Given the description of an element on the screen output the (x, y) to click on. 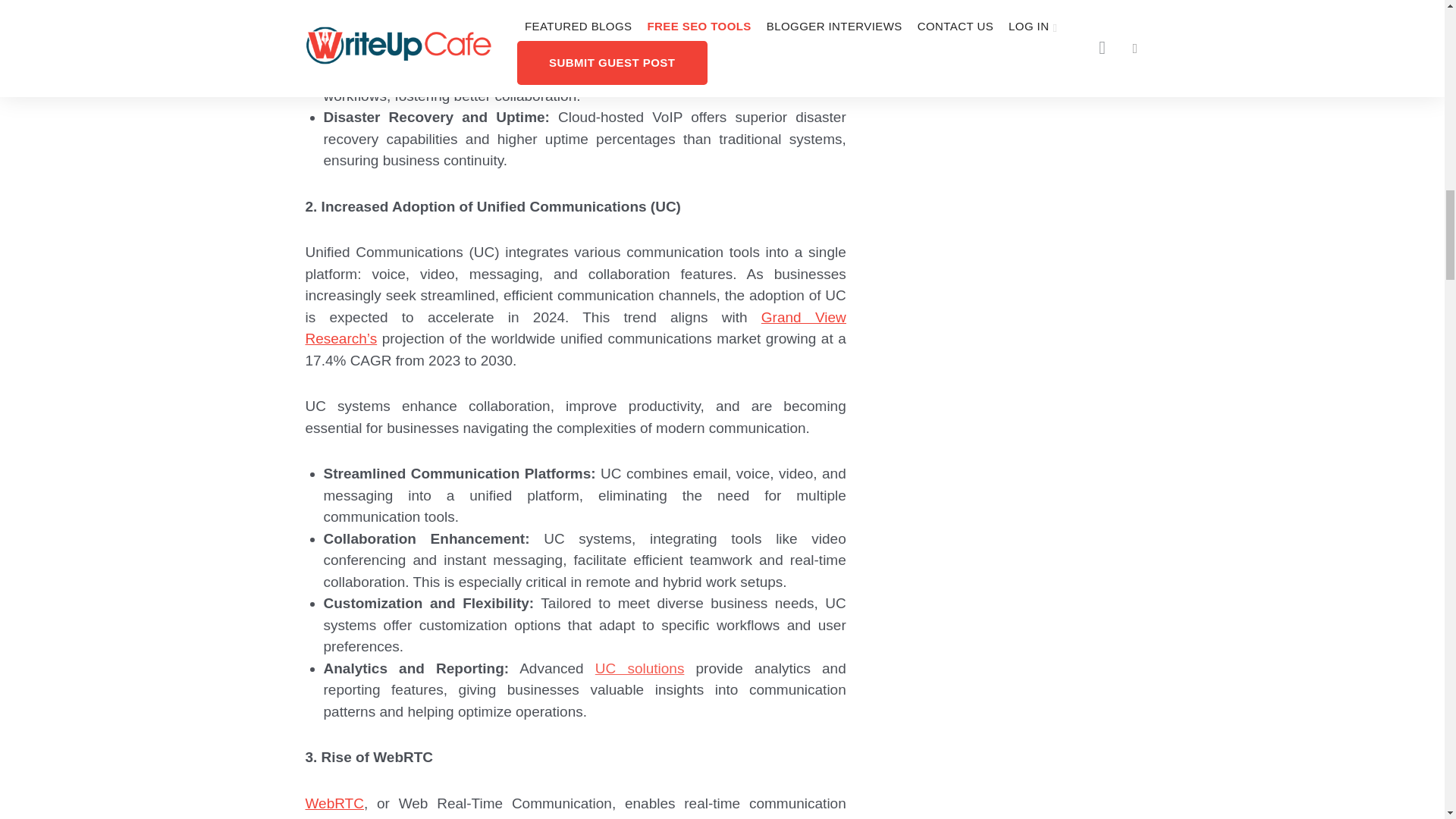
Enhanced integration (605, 51)
